Given the description of an element on the screen output the (x, y) to click on. 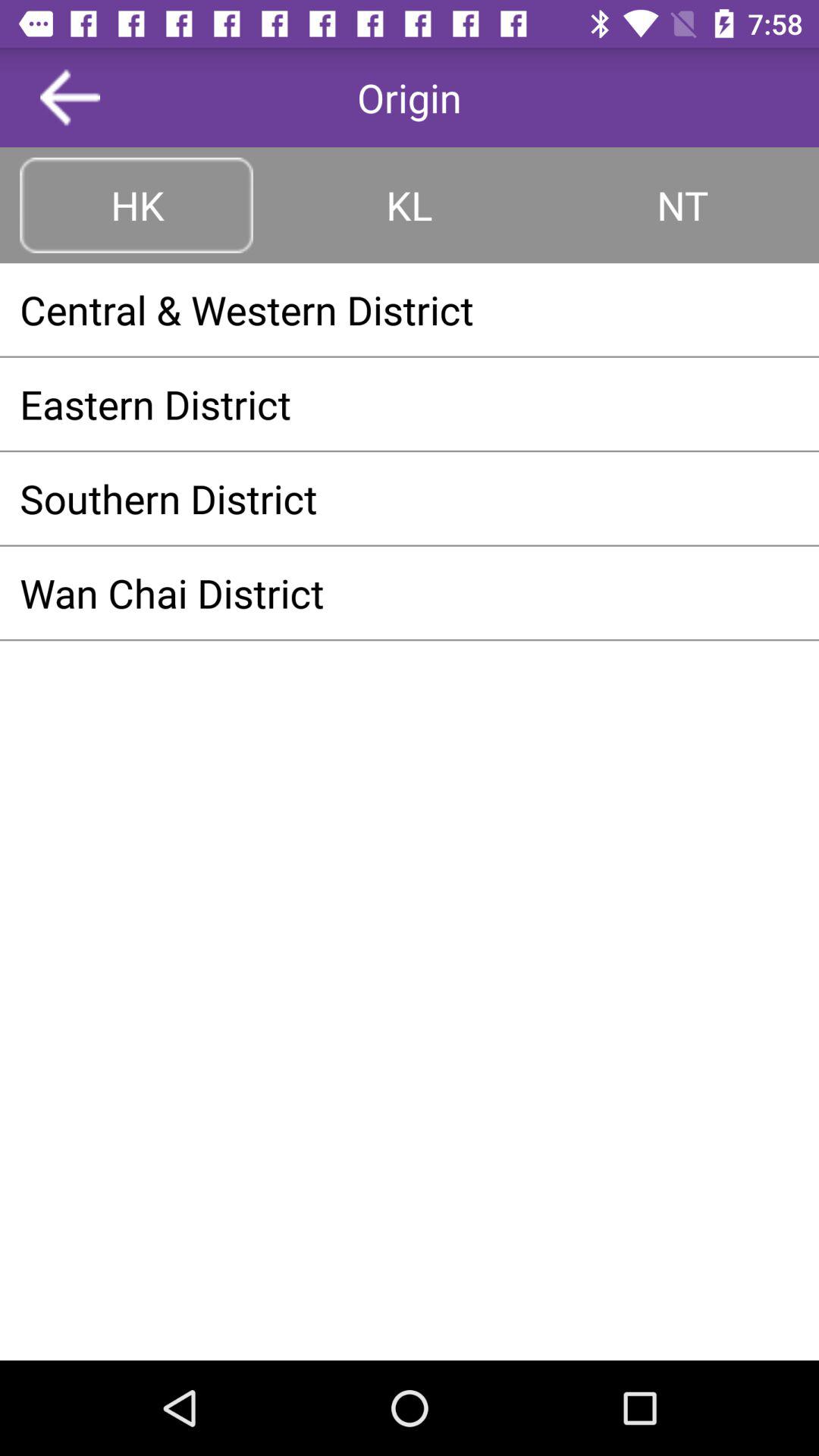
click the button to the right of the kl (682, 205)
